Given the description of an element on the screen output the (x, y) to click on. 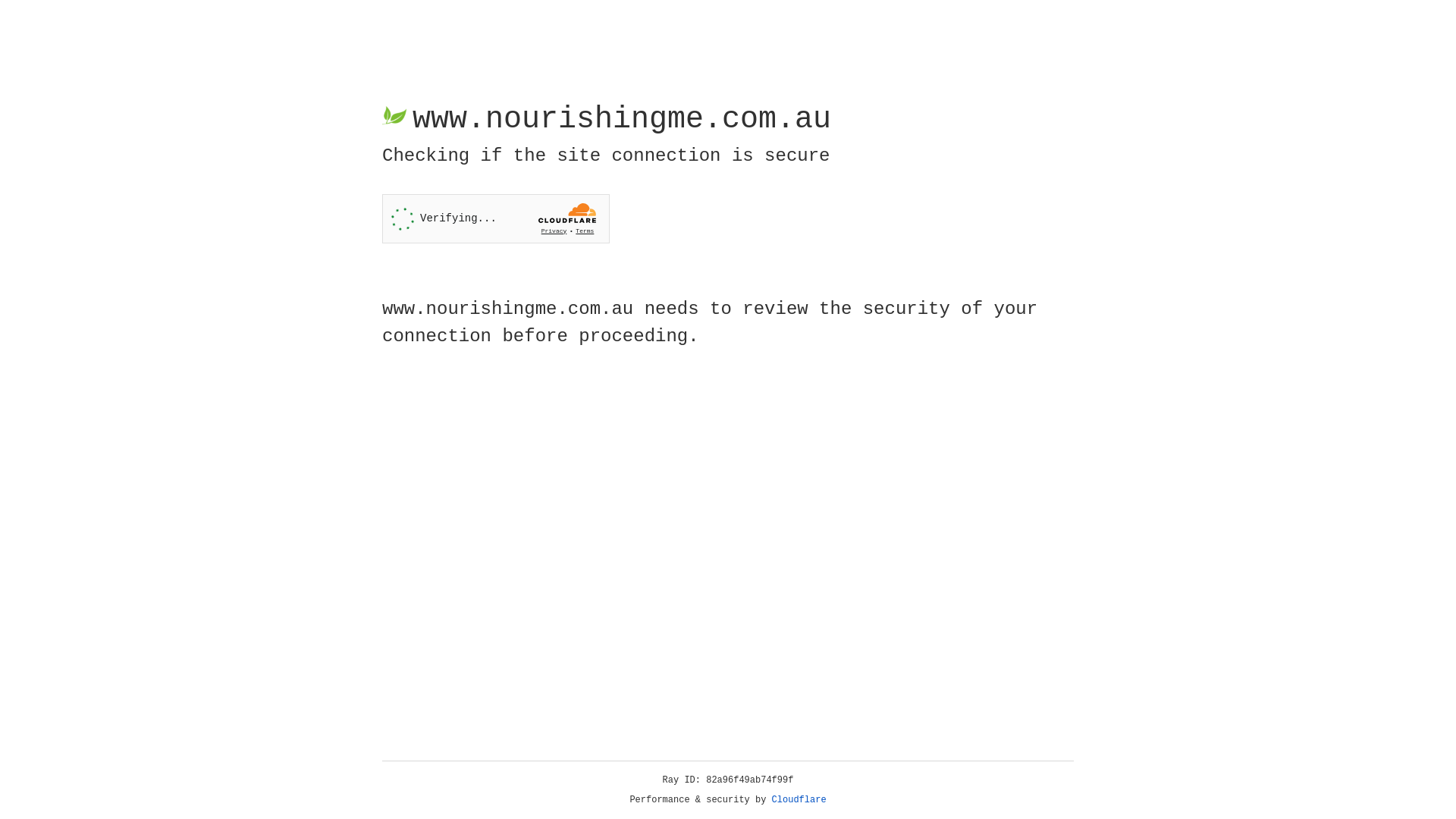
Widget containing a Cloudflare security challenge Element type: hover (495, 218)
Cloudflare Element type: text (798, 799)
